Given the description of an element on the screen output the (x, y) to click on. 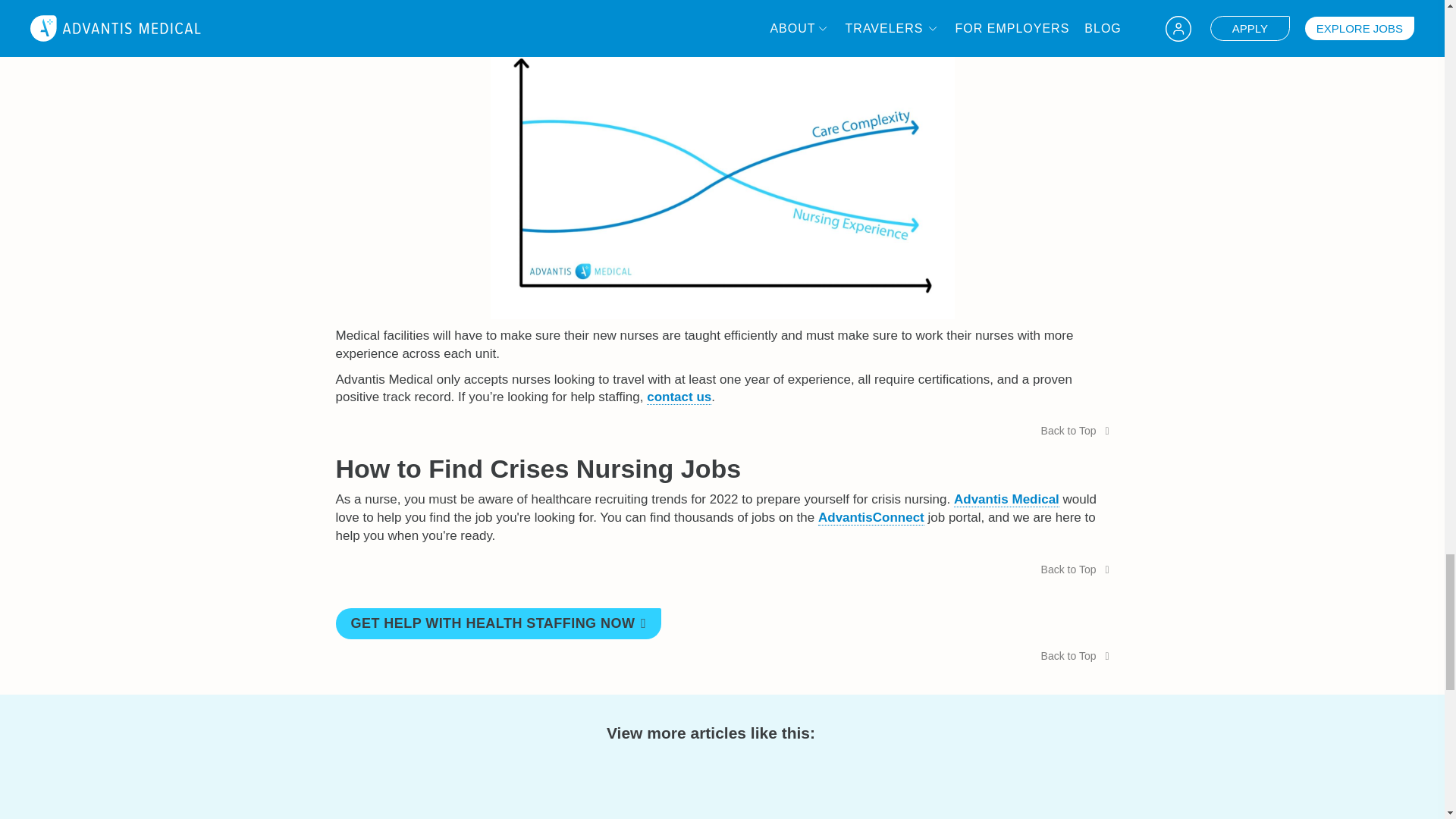
Advantis Medical (1006, 499)
AdvantisConnect (871, 517)
contact us (678, 396)
